Given the description of an element on the screen output the (x, y) to click on. 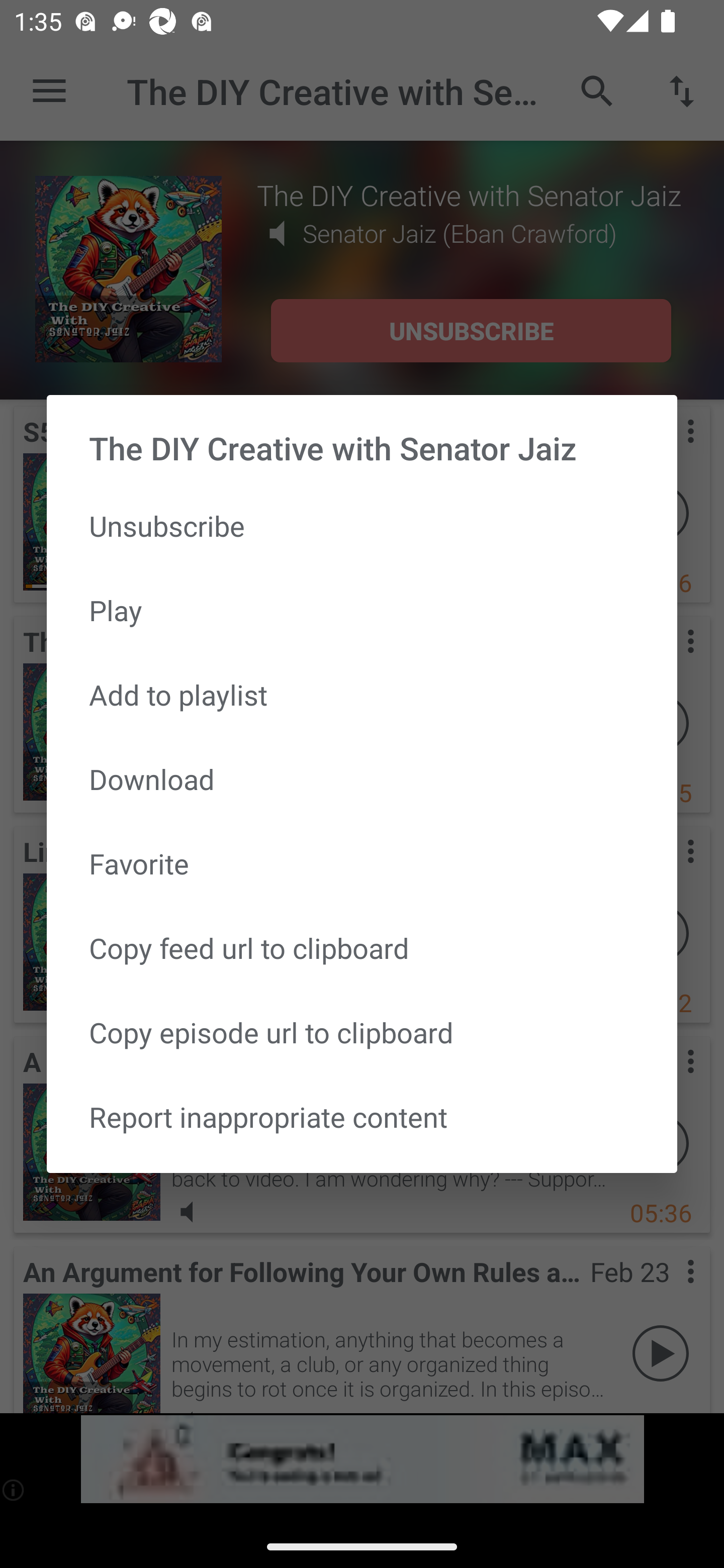
Unsubscribe (361, 524)
Play (361, 609)
Add to playlist (361, 694)
Download (361, 778)
Favorite (361, 863)
Copy feed url to clipboard (361, 947)
Copy episode url to clipboard (361, 1031)
Report inappropriate content (361, 1116)
